Given the description of an element on the screen output the (x, y) to click on. 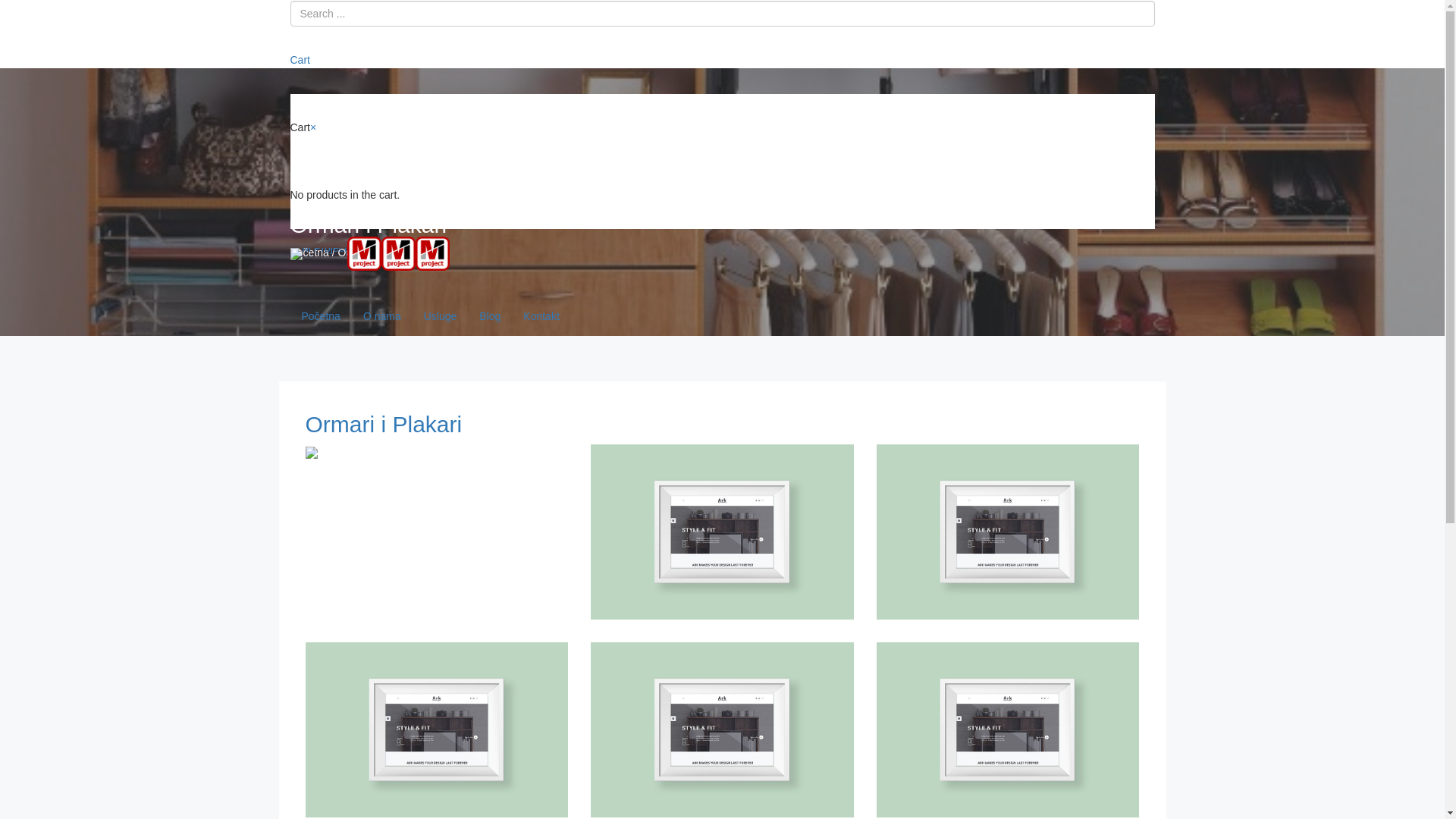
Usluge Element type: text (440, 315)
Blog Element type: text (489, 315)
O nama Element type: text (381, 315)
Ormari i Plakari Element type: text (382, 423)
Cart  Element type: text (300, 59)
Kontakt Element type: text (540, 315)
